Given the description of an element on the screen output the (x, y) to click on. 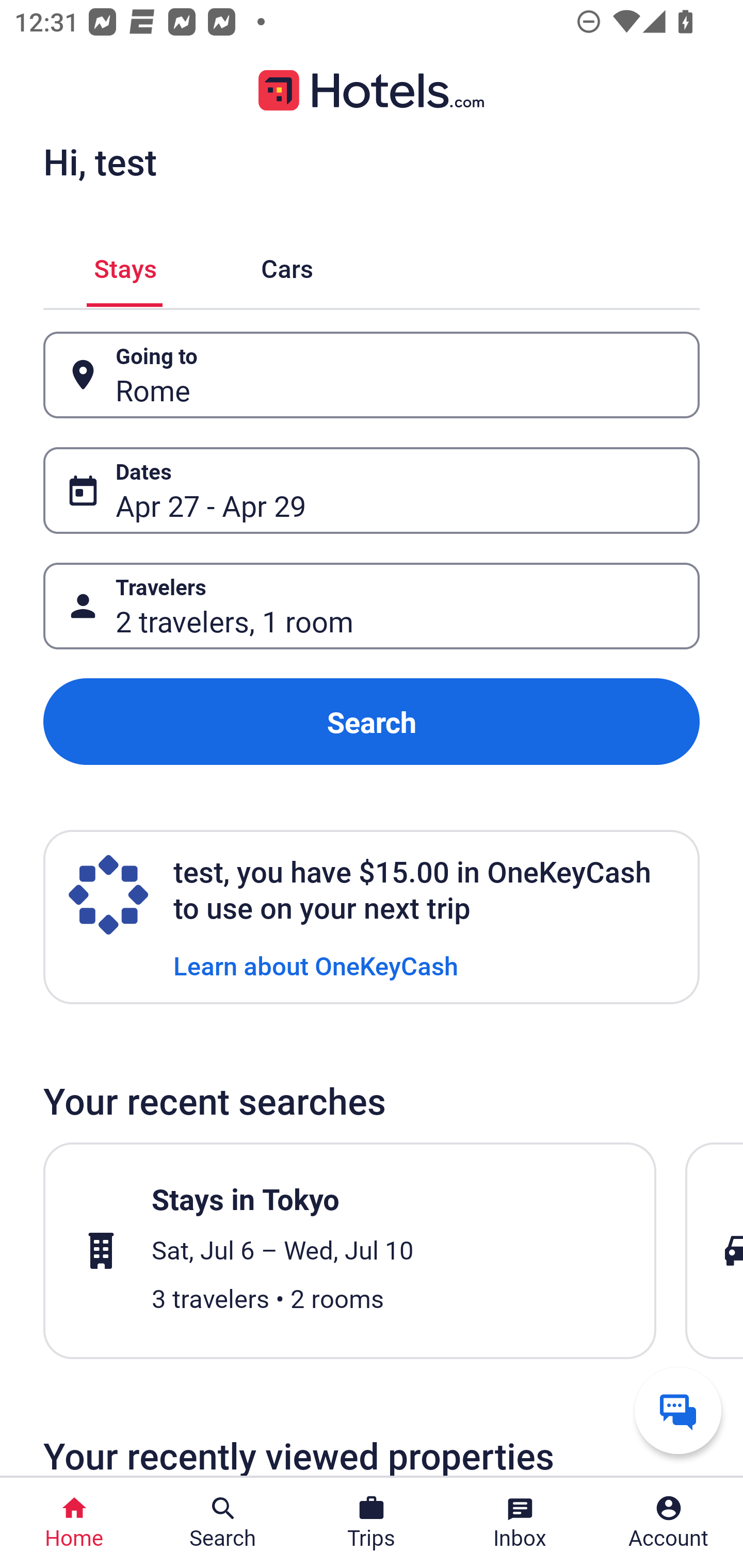
Hi, test (99, 161)
Cars (286, 265)
Going to Button Rome (371, 375)
Dates Button Apr 27 - Apr 29 (371, 489)
Travelers Button 2 travelers, 1 room (371, 605)
Search (371, 721)
Learn about OneKeyCash Learn about OneKeyCash Link (315, 964)
Get help from a virtual agent (677, 1410)
Search Search Button (222, 1522)
Trips Trips Button (371, 1522)
Inbox Inbox Button (519, 1522)
Account Profile. Button (668, 1522)
